Given the description of an element on the screen output the (x, y) to click on. 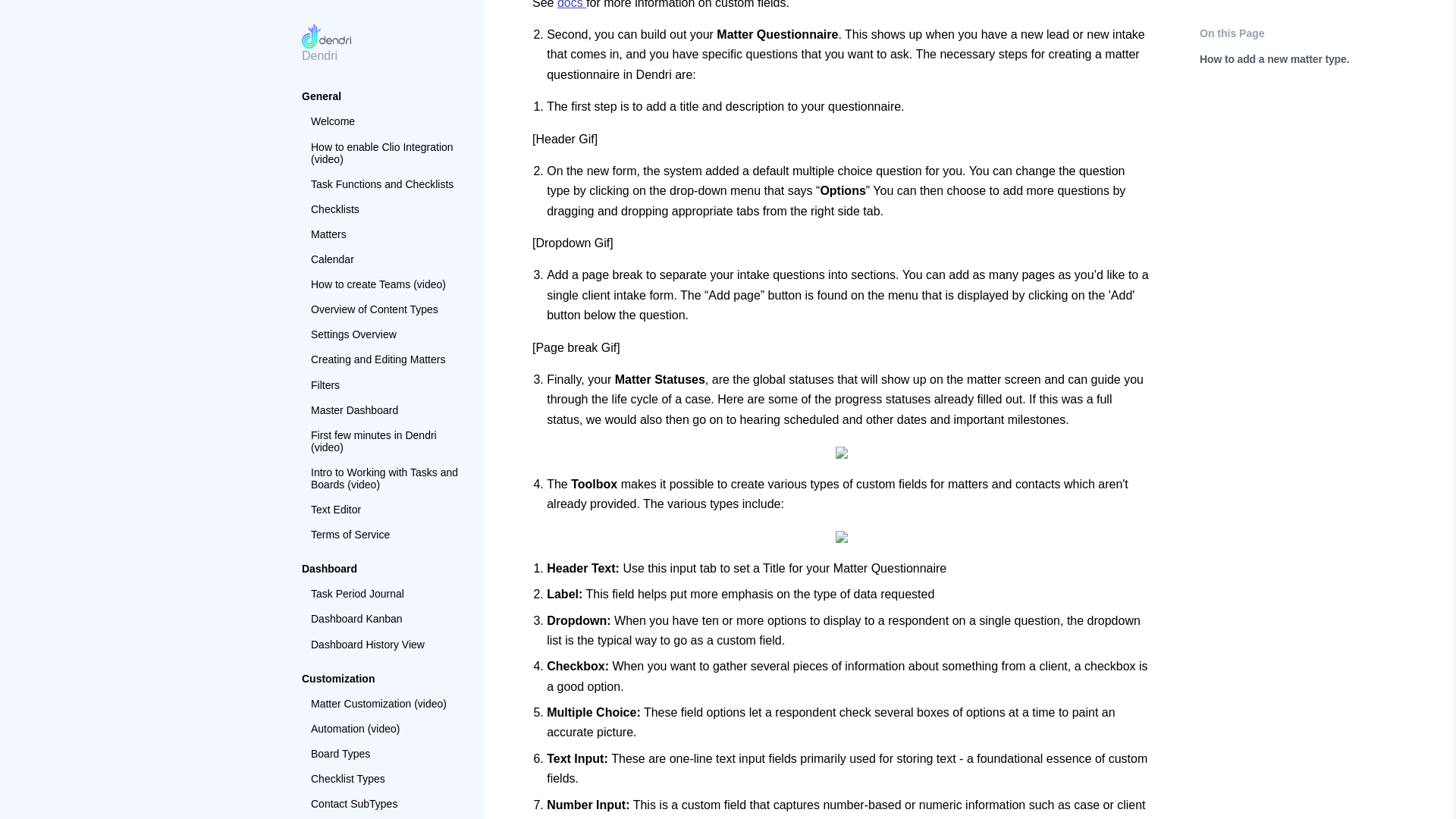
Profile Settings (384, 231)
Labels (384, 11)
How to add a new matter type. (384, 347)
How to delete a matter. (384, 403)
How to add a new matter. (384, 378)
Registration and Login (384, 256)
How to leave a team (384, 180)
How to join a team (384, 206)
Billing FAQ (384, 281)
How to filter matters. (384, 428)
How to Define or Edit Team Permissions for Existing Users (384, 149)
Note Types (384, 34)
